Given the description of an element on the screen output the (x, y) to click on. 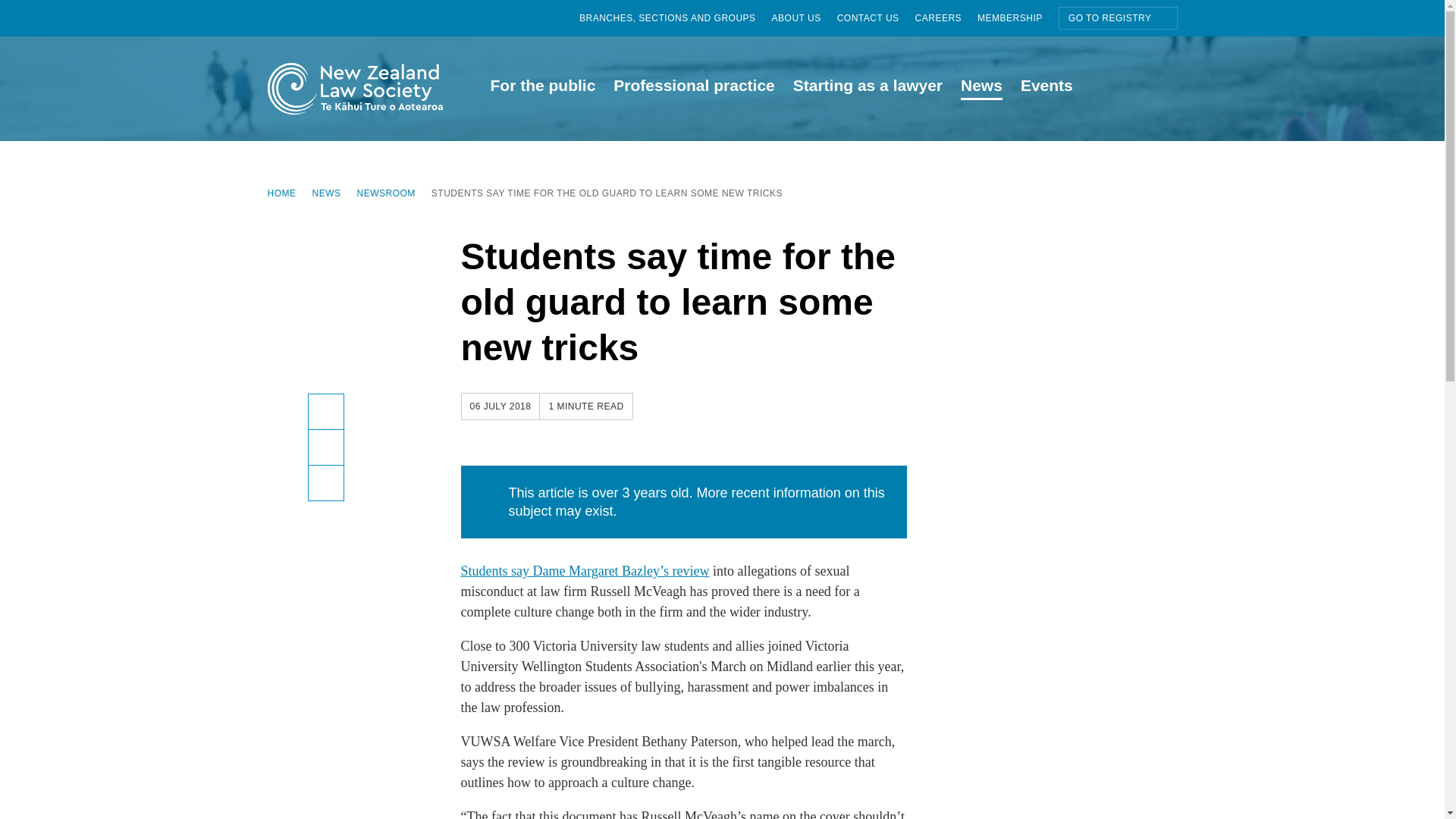
MEMBERSHIP (1017, 18)
For the public (542, 88)
Professional practice (693, 88)
CAREERS (946, 18)
CONTACT US (876, 18)
BRANCHES, SECTIONS AND GROUPS (675, 18)
ABOUT US (804, 18)
GO TO REGISTRY (1117, 17)
